Given the description of an element on the screen output the (x, y) to click on. 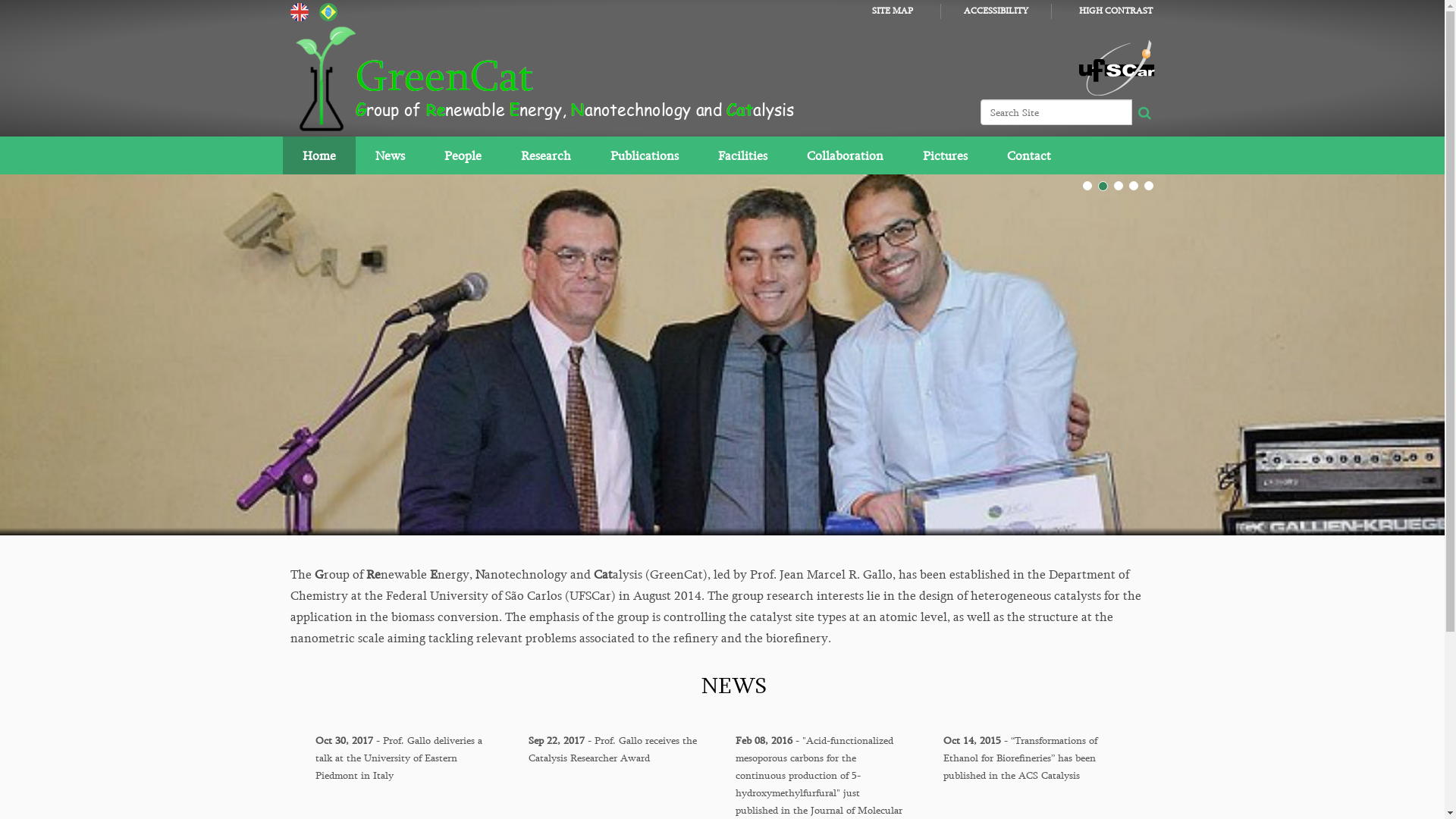
Portal UFSCar Element type: hover (1116, 65)
English Element type: hover (298, 10)
News Element type: text (388, 155)
Pictures Element type: text (944, 155)
People Element type: text (462, 155)
ACCESSIBILITY Element type: text (995, 10)
Contact Element type: text (1028, 155)
Publications Element type: text (643, 155)
English Element type: hover (298, 12)
Facilities Element type: text (741, 155)
Collaboration Element type: text (845, 155)
SITE MAP Element type: text (892, 10)
NEWS Element type: text (733, 684)
Research Element type: text (544, 155)
English Element type: hover (683, 77)
Home Element type: text (318, 155)
Search Site Element type: hover (1055, 112)
Prof. Gallo receives the Catalysis Researcher Award Element type: hover (722, 354)
Group of Renewable Energy, Nanotechnology and Catalysis Element type: hover (547, 77)
HIGH CONTRAST Element type: text (1114, 10)
